Given the description of an element on the screen output the (x, y) to click on. 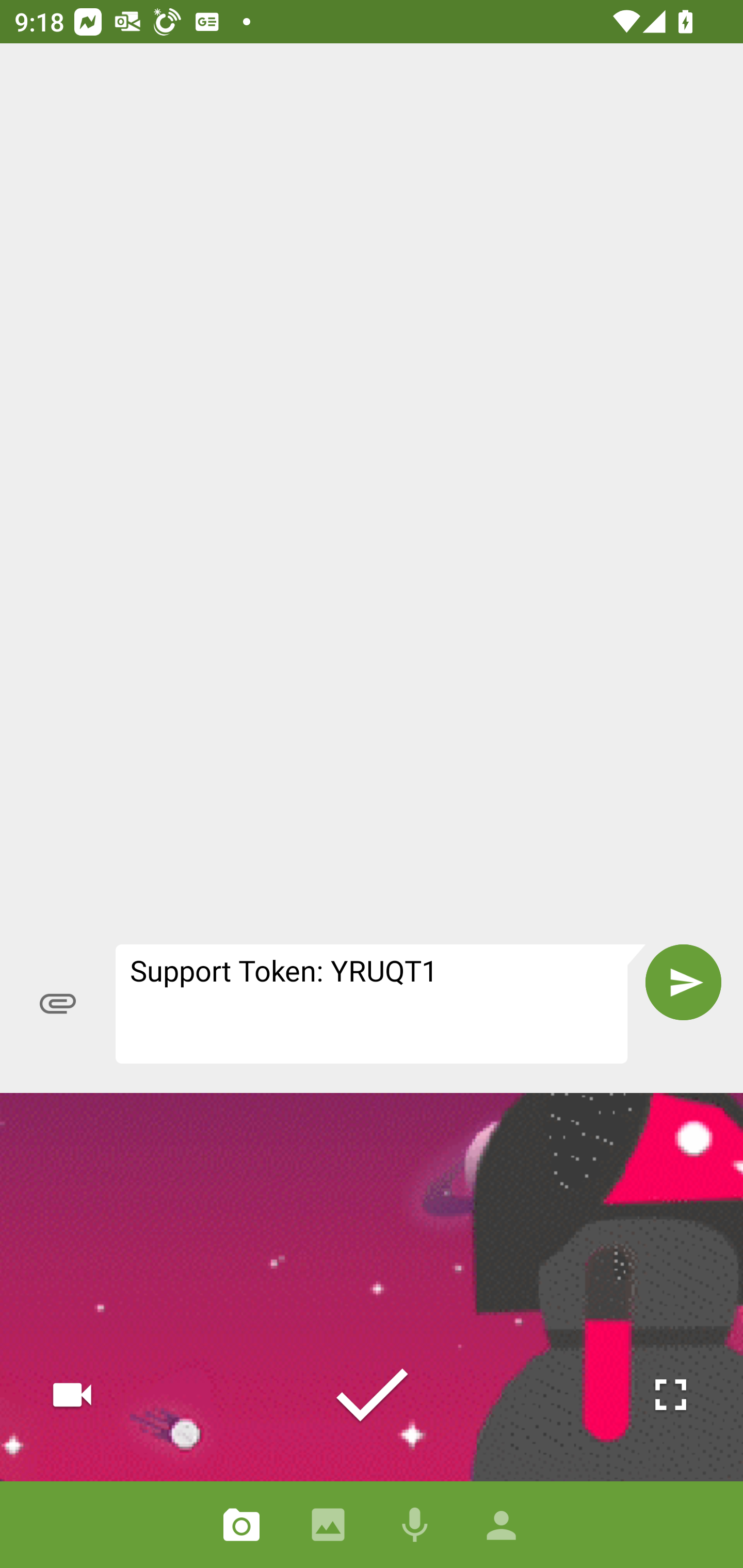
Support Token: YRUQT1

 (380, 1003)
Add an attachment (57, 1003)
Take picture (371, 1394)
Capture video (71, 1394)
Switch to full screen camera (670, 1394)
Capture pictures or video (241, 1524)
Choose images from this device (327, 1524)
Record audio (414, 1524)
Choose a contact from this device (501, 1524)
